Given the description of an element on the screen output the (x, y) to click on. 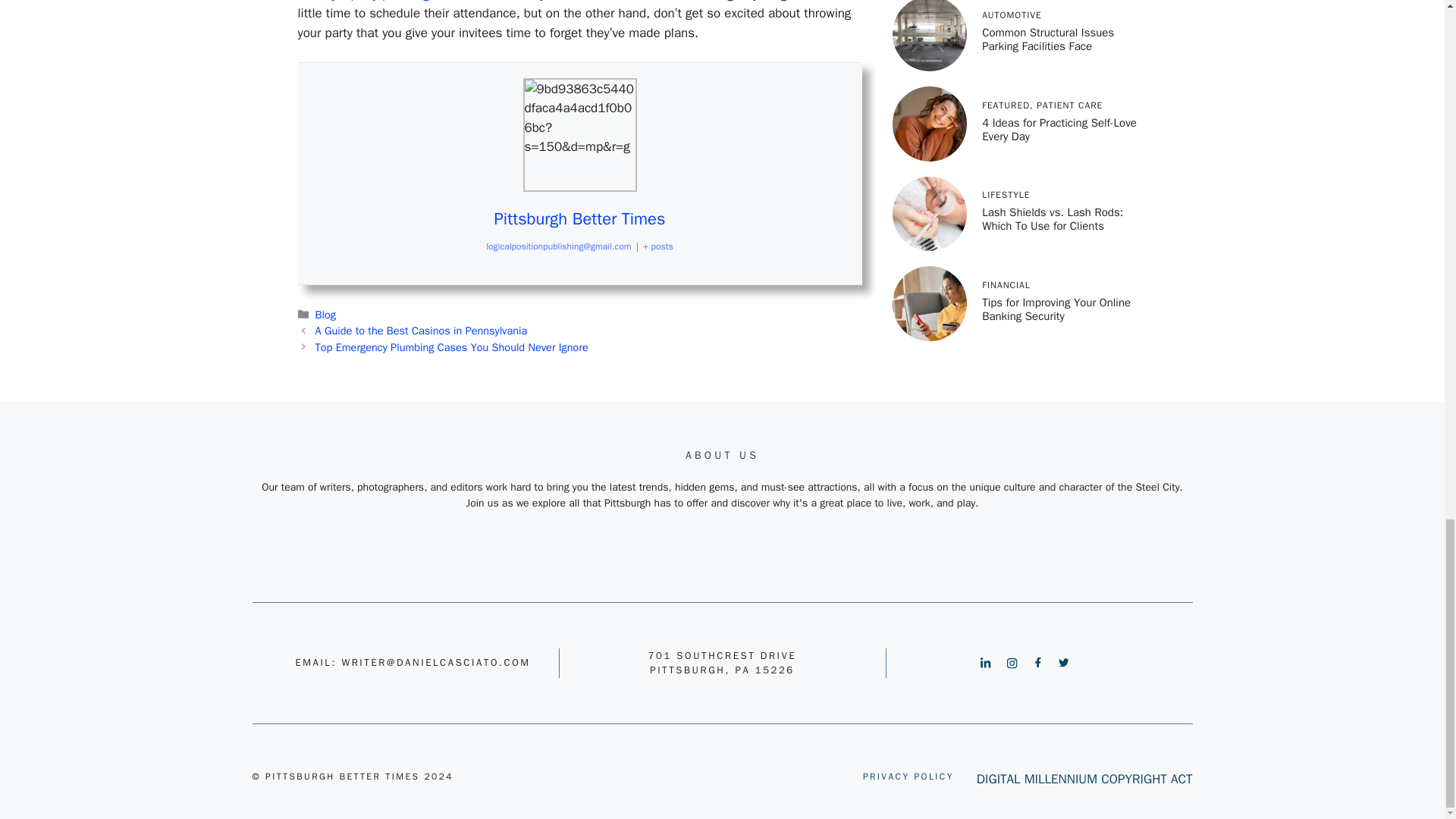
A Guide to the Best Casinos in Pennsylvania (421, 330)
Tips for Designing Party Invitations 1 (579, 134)
major party-planning fouls (388, 1)
Top Emergency Plumbing Cases You Should Never Ignore (451, 346)
Blog (325, 314)
Pittsburgh Better Times (580, 219)
